Given the description of an element on the screen output the (x, y) to click on. 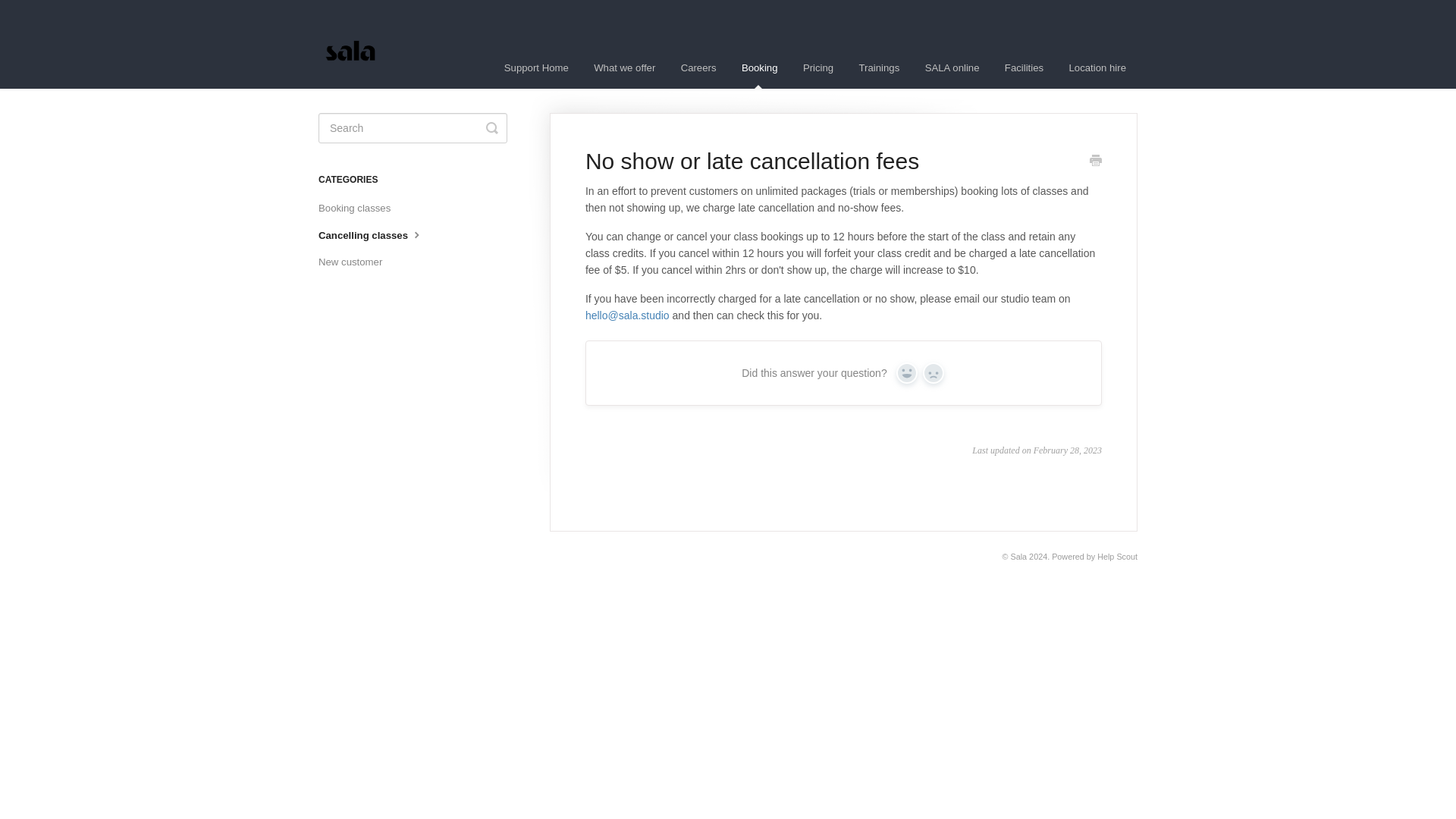
Help Scout (1117, 556)
Trainings (879, 67)
Booking classes (359, 208)
Cancelling classes (376, 235)
No (933, 373)
New customer (355, 262)
Location hire (1097, 67)
Facilities (1023, 67)
Careers (698, 67)
Booking (759, 67)
Support Home (536, 67)
Pricing (818, 67)
Yes (906, 373)
SALA online (952, 67)
Sala (1018, 556)
